Given the description of an element on the screen output the (x, y) to click on. 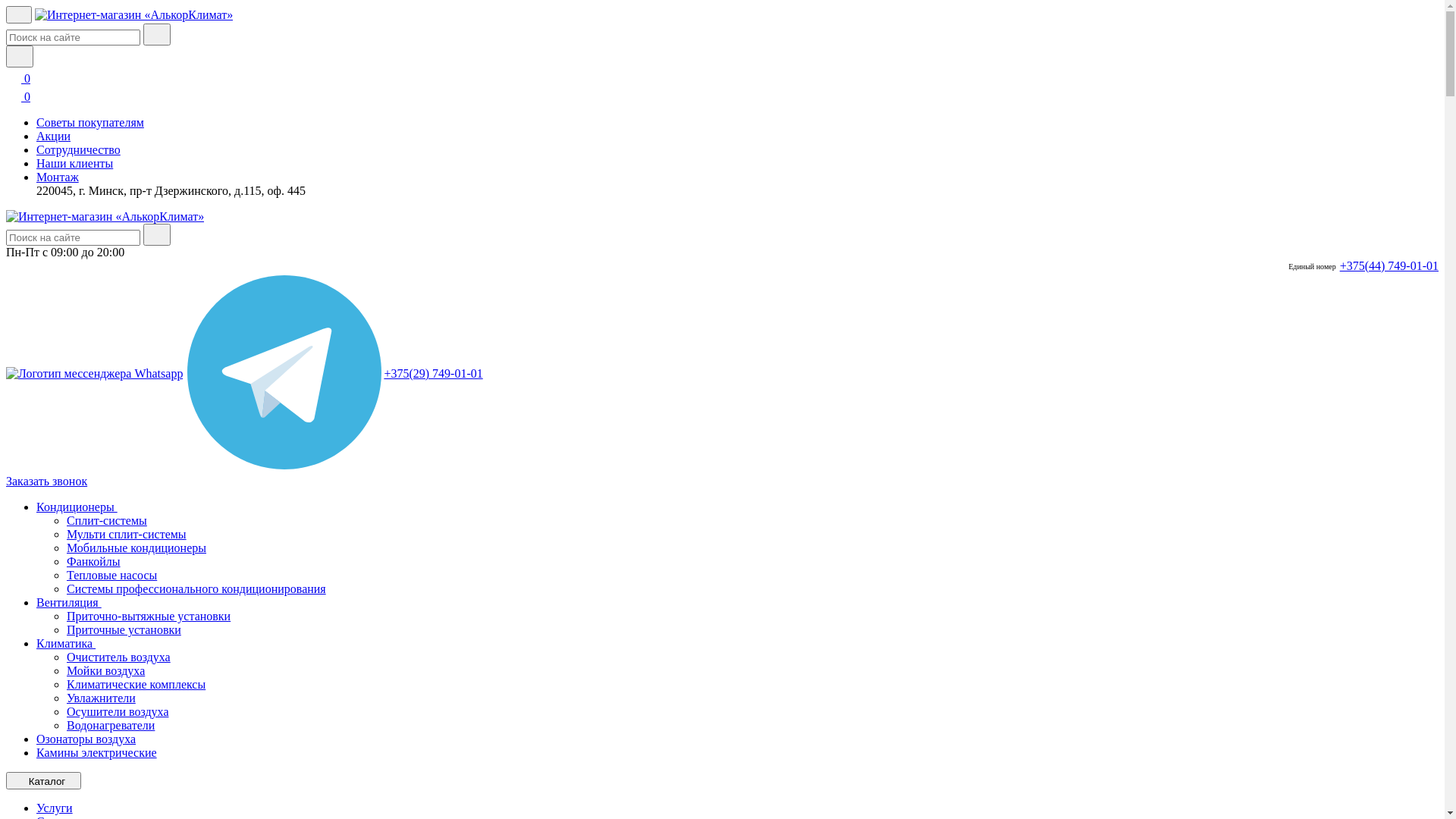
0 Element type: text (18, 96)
0 Element type: text (18, 78)
+375(29) 749-01-01 Element type: text (432, 373)
+375(44) 749-01-01 Element type: text (1388, 266)
